Given the description of an element on the screen output the (x, y) to click on. 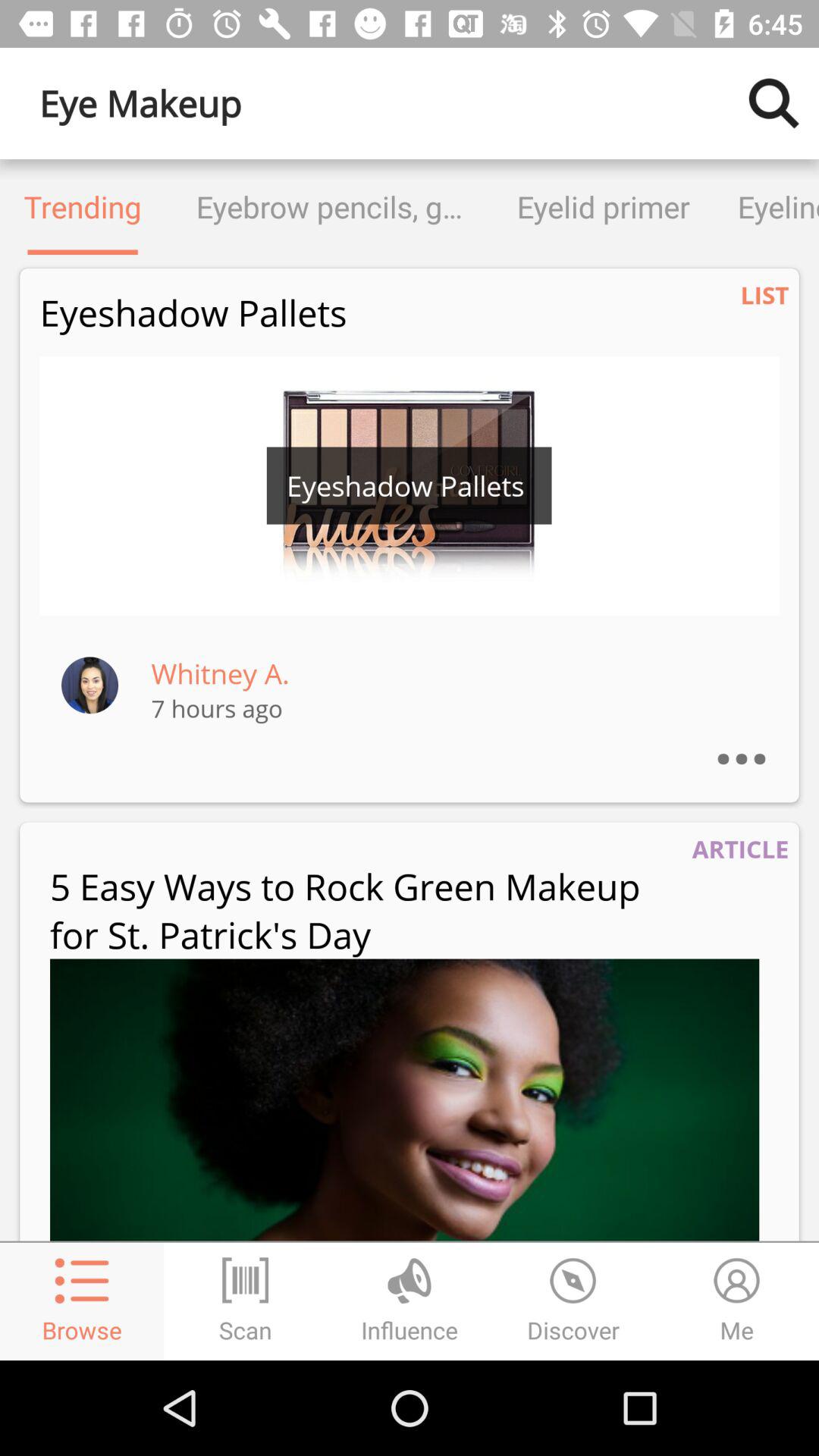
turn on whitney a. item (220, 673)
